Given the description of an element on the screen output the (x, y) to click on. 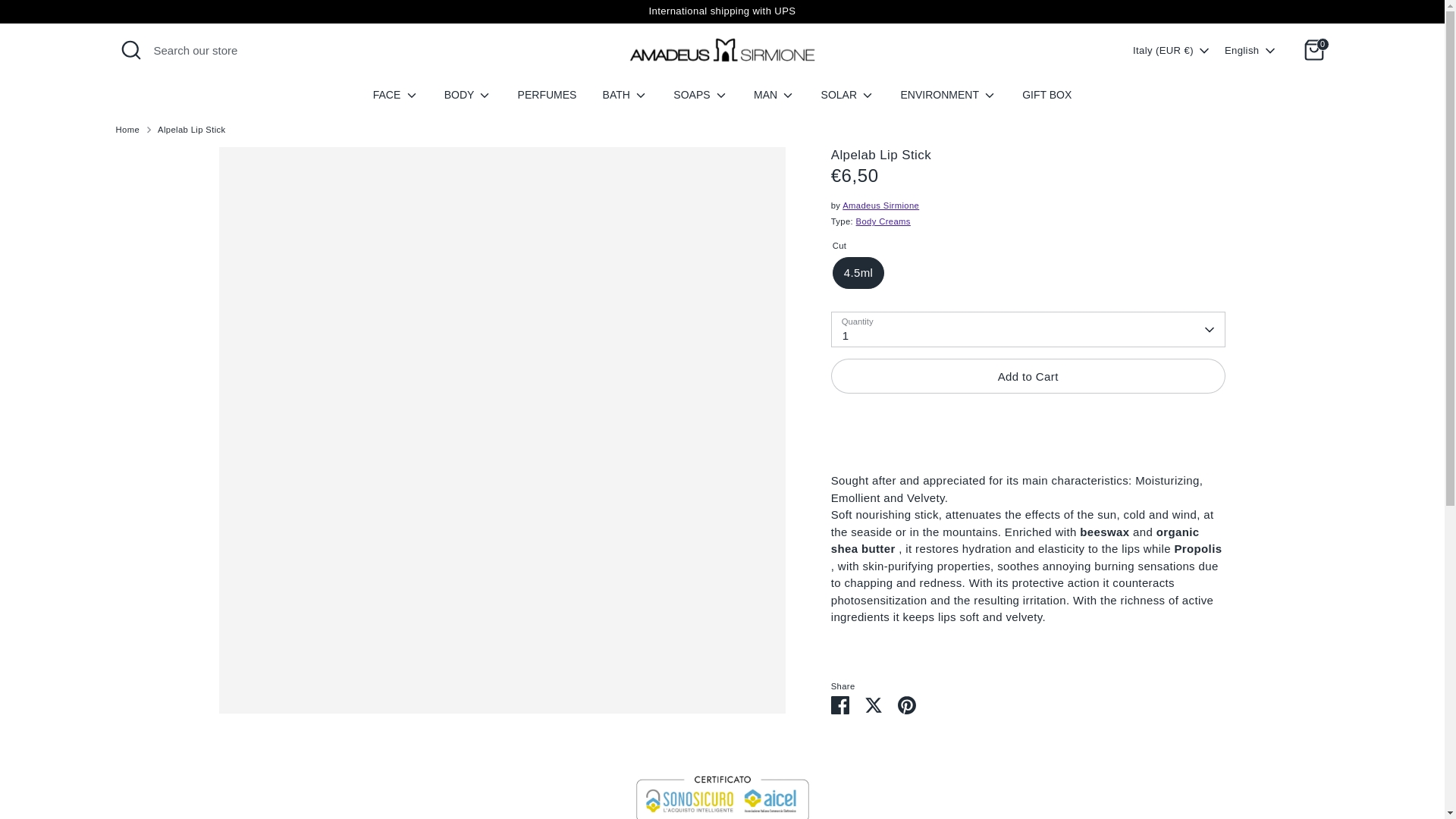
0 (1312, 50)
English (1251, 50)
